Given the description of an element on the screen output the (x, y) to click on. 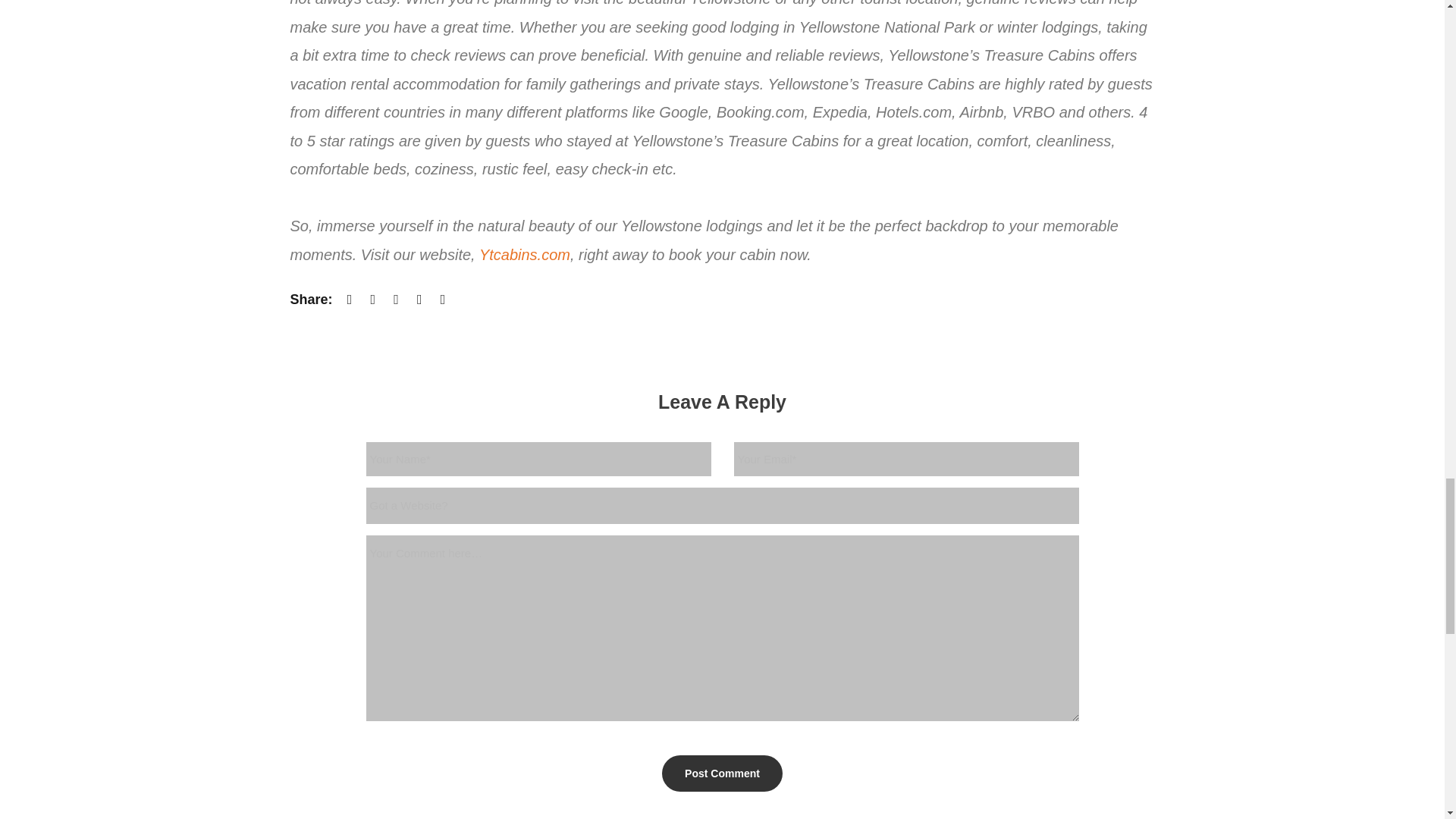
Post Comment (722, 773)
Post Comment (722, 773)
Ytcabins.com (524, 254)
